Given the description of an element on the screen output the (x, y) to click on. 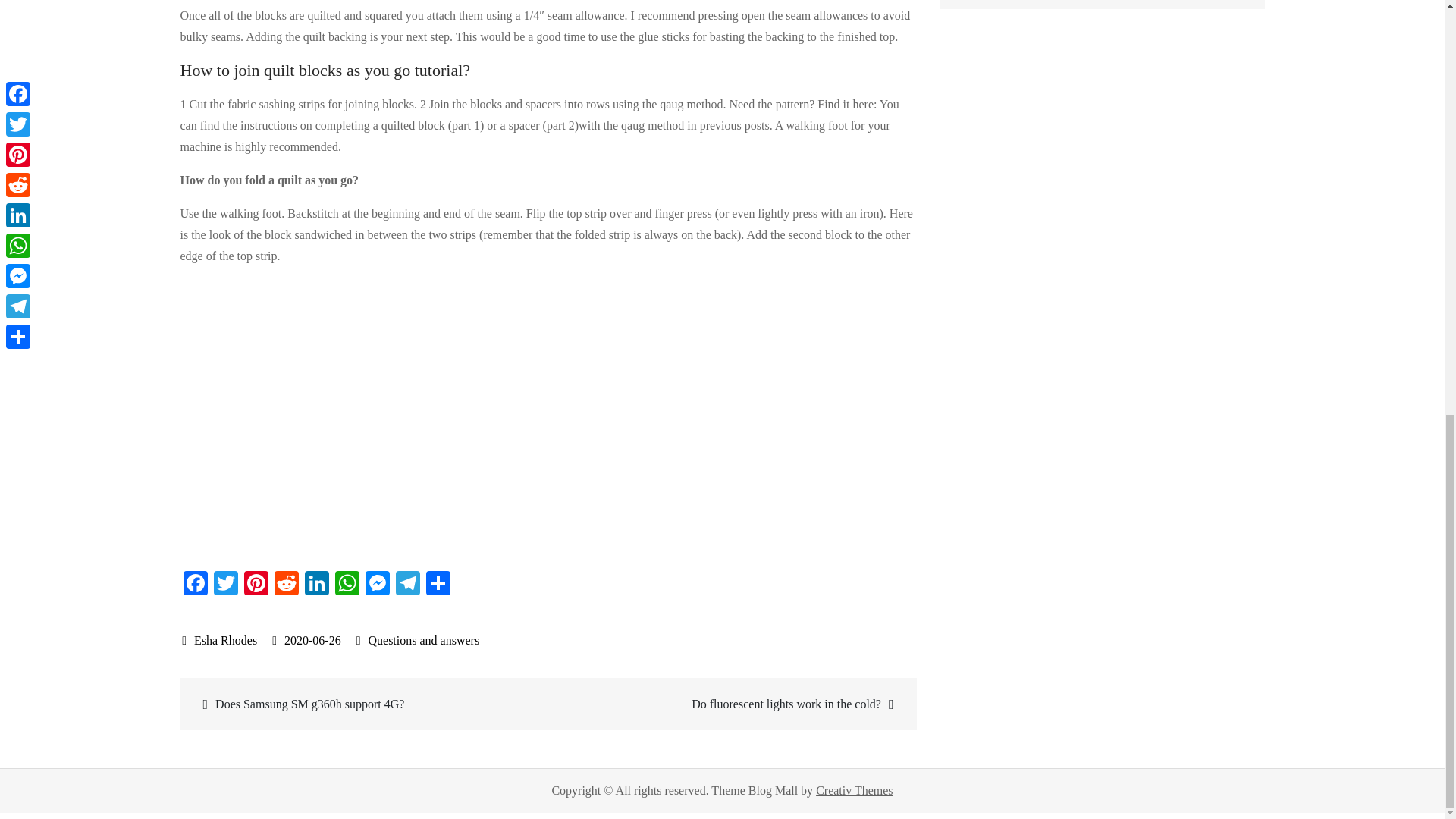
Reddit (285, 584)
Twitter (226, 584)
Telegram (408, 584)
Twitter (226, 584)
Questions and answers (423, 640)
Facebook (195, 584)
How to Quilt an Entire Quilt as You Go (422, 415)
LinkedIn (316, 584)
Facebook (195, 584)
Pinterest (255, 584)
WhatsApp (346, 584)
Telegram (408, 584)
LinkedIn (316, 584)
Messenger (377, 584)
Does Samsung SM g360h support 4G? (366, 703)
